Given the description of an element on the screen output the (x, y) to click on. 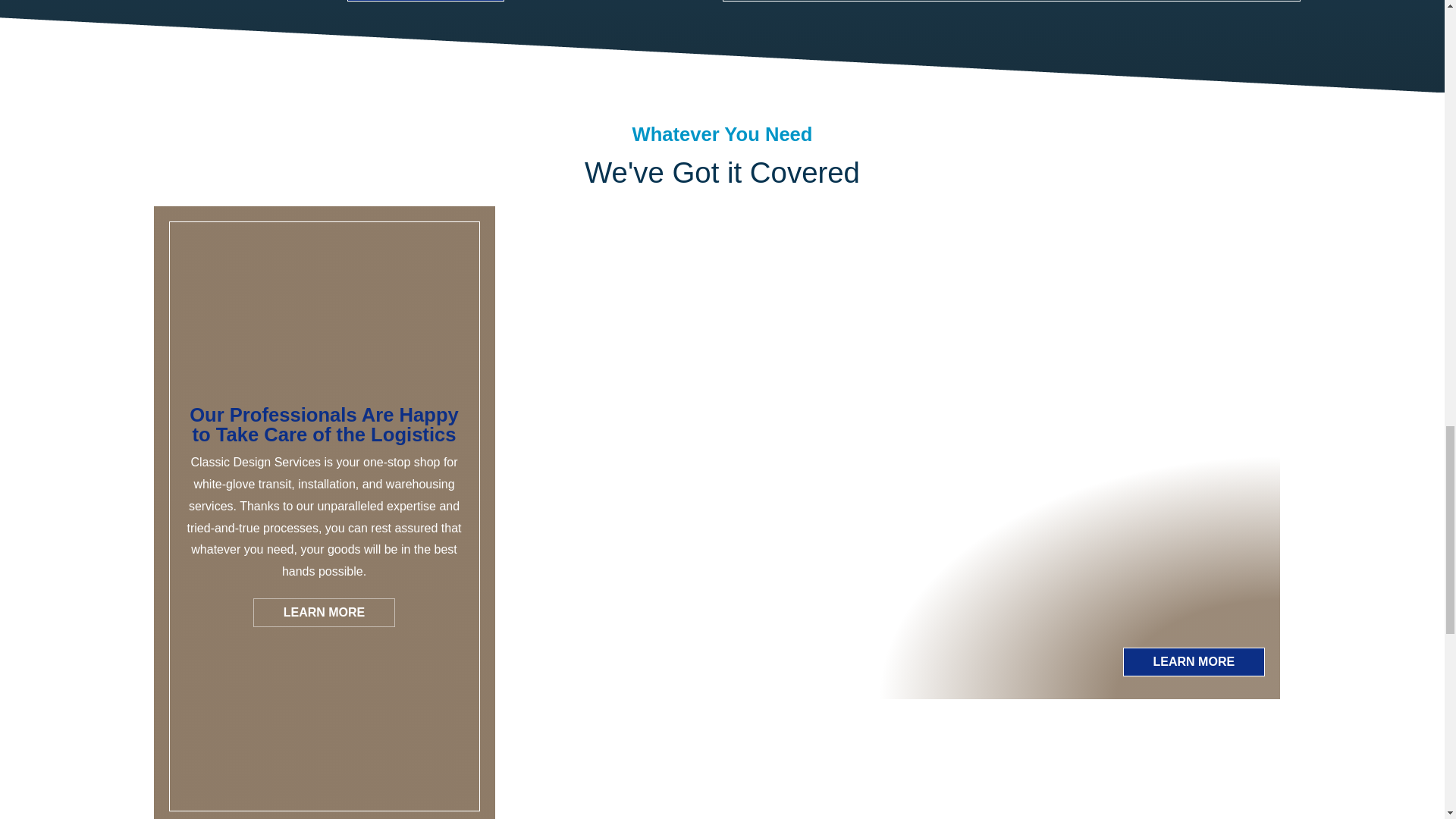
LEARN MORE (323, 612)
LEARN MORE (1192, 661)
